Given the description of an element on the screen output the (x, y) to click on. 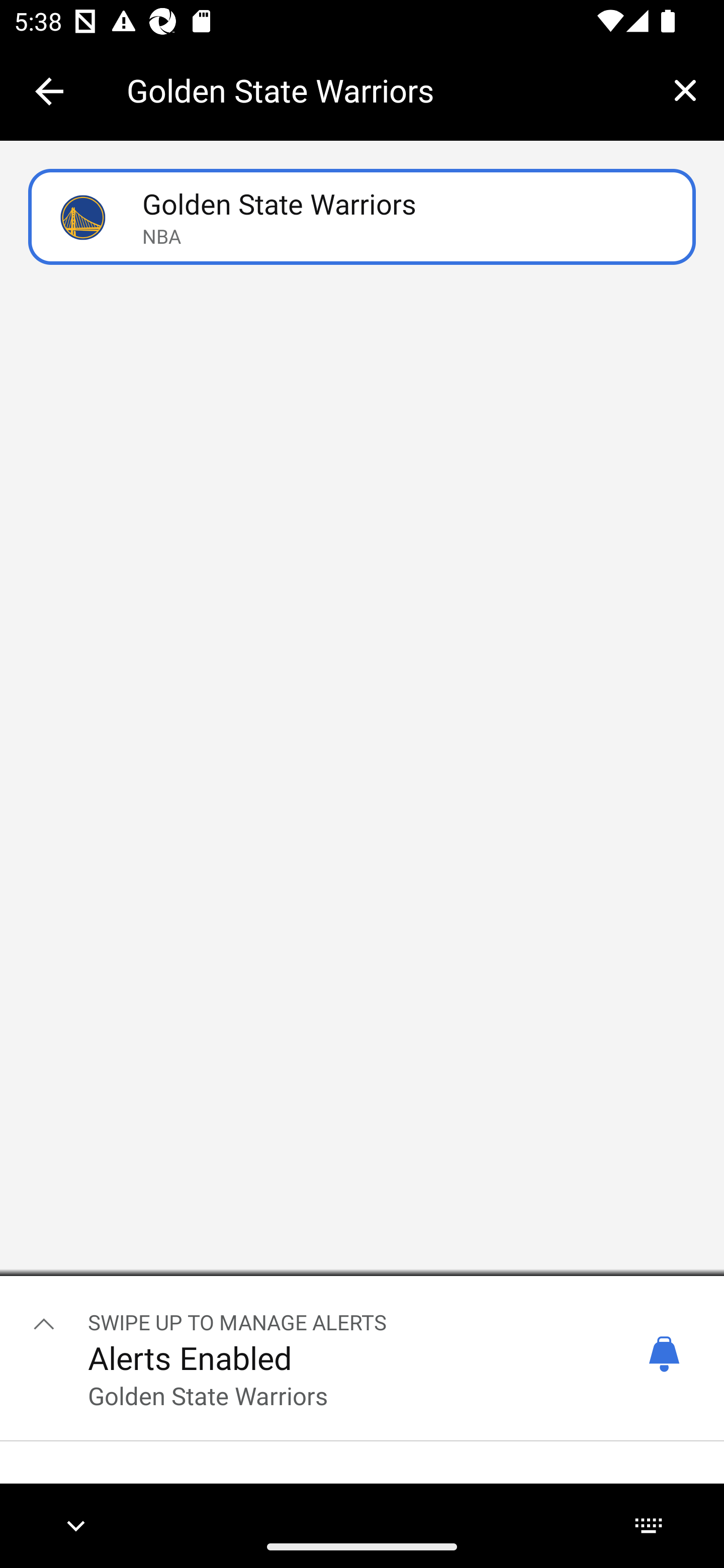
Collapse (49, 91)
Clear query (685, 89)
Golden State Warriors (386, 90)
 (44, 1323)
